Given the description of an element on the screen output the (x, y) to click on. 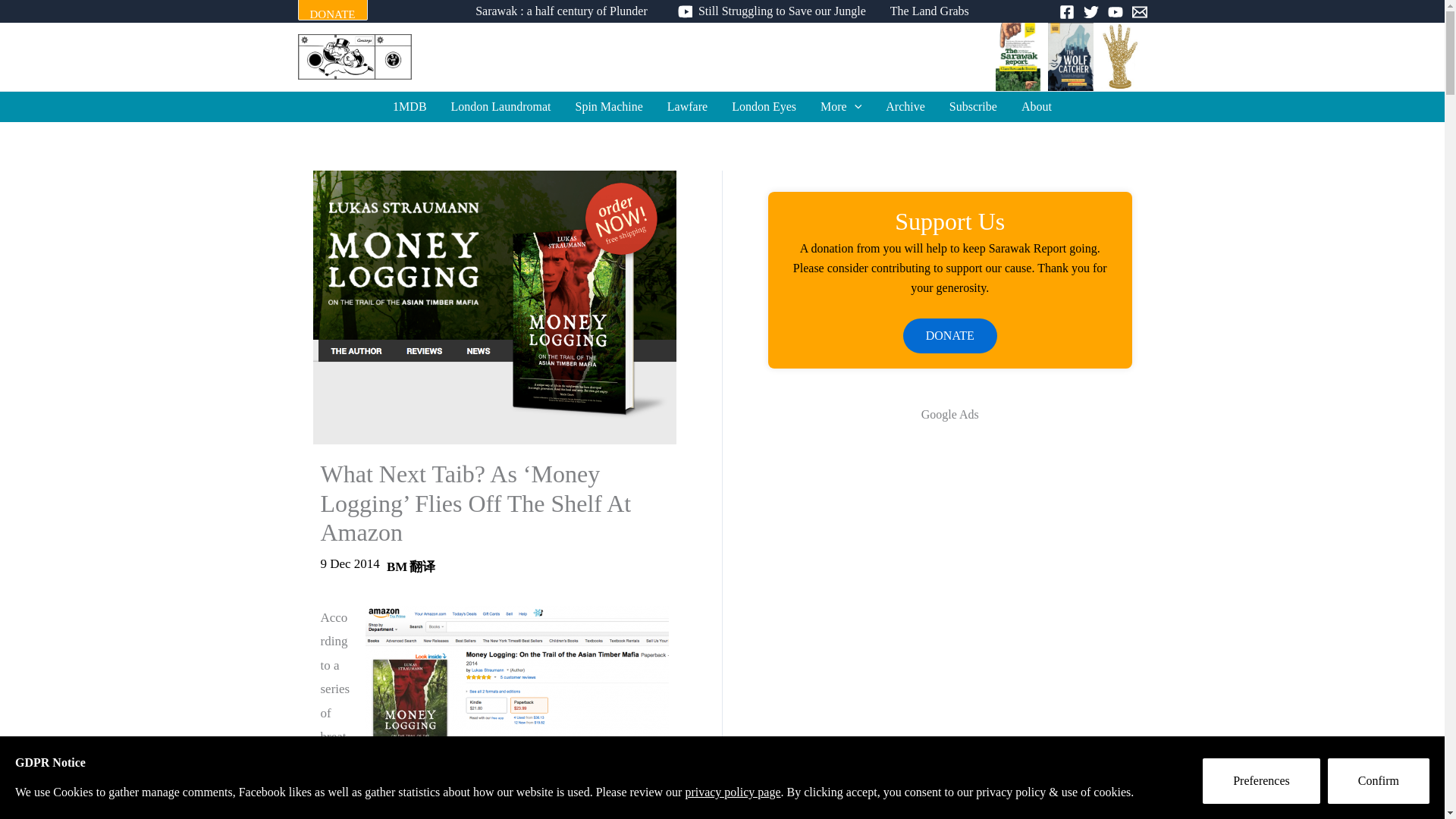
About (1036, 106)
Sarawak : a half century of Plunder (561, 11)
London Laundromat (501, 106)
DONATE (331, 14)
London Eyes (763, 106)
Subscribe (973, 106)
More (840, 106)
SarawakReport (722, 56)
Still Struggling to Save our Jungle (768, 11)
Spin Machine (609, 106)
Archive (905, 106)
DONATE (331, 10)
1MDB (409, 106)
Lawfare (687, 106)
The Land Grabs (929, 11)
